Given the description of an element on the screen output the (x, y) to click on. 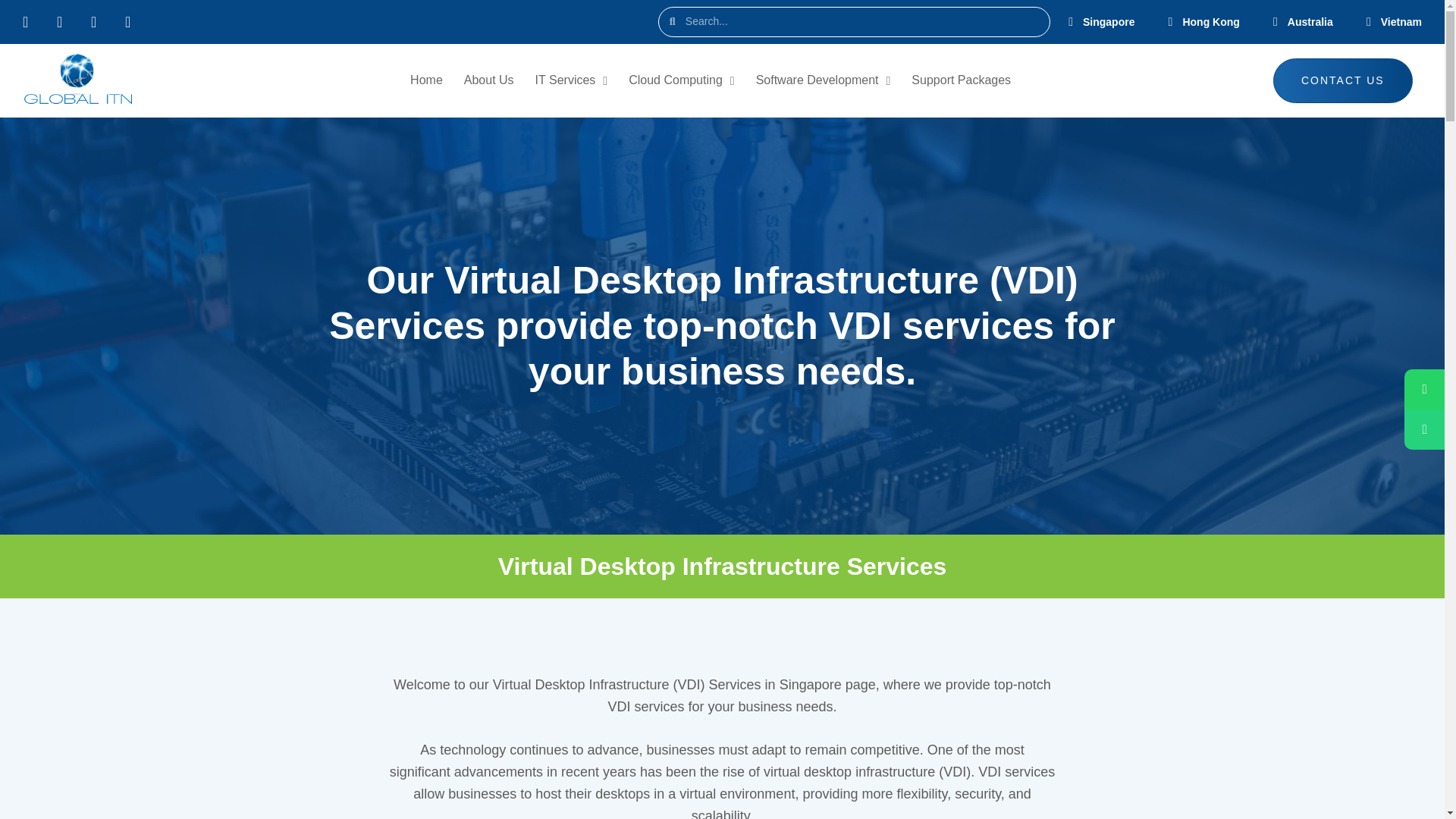
Cloud Computing (681, 80)
Software Development (823, 80)
IT Services (572, 80)
Support Packages (960, 80)
Search (862, 21)
About Us (489, 80)
Home (426, 80)
CONTACT US (1342, 80)
